Given the description of an element on the screen output the (x, y) to click on. 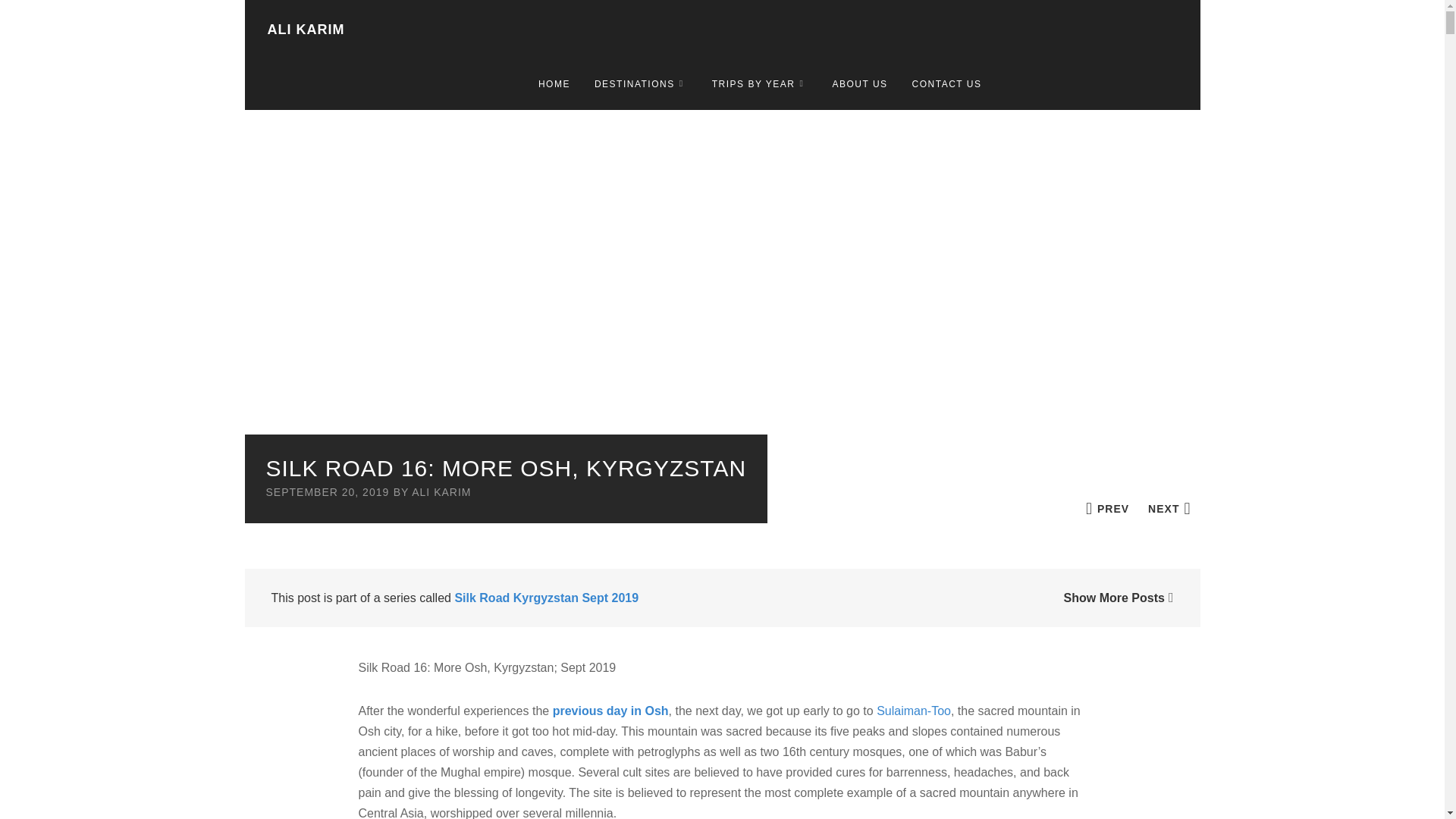
Previous Point On Map (1107, 508)
Next Point On Map (1168, 508)
HOME (553, 82)
Ali Karim  (304, 29)
DESTINATIONS (640, 82)
ALI KARIM (304, 29)
